Given the description of an element on the screen output the (x, y) to click on. 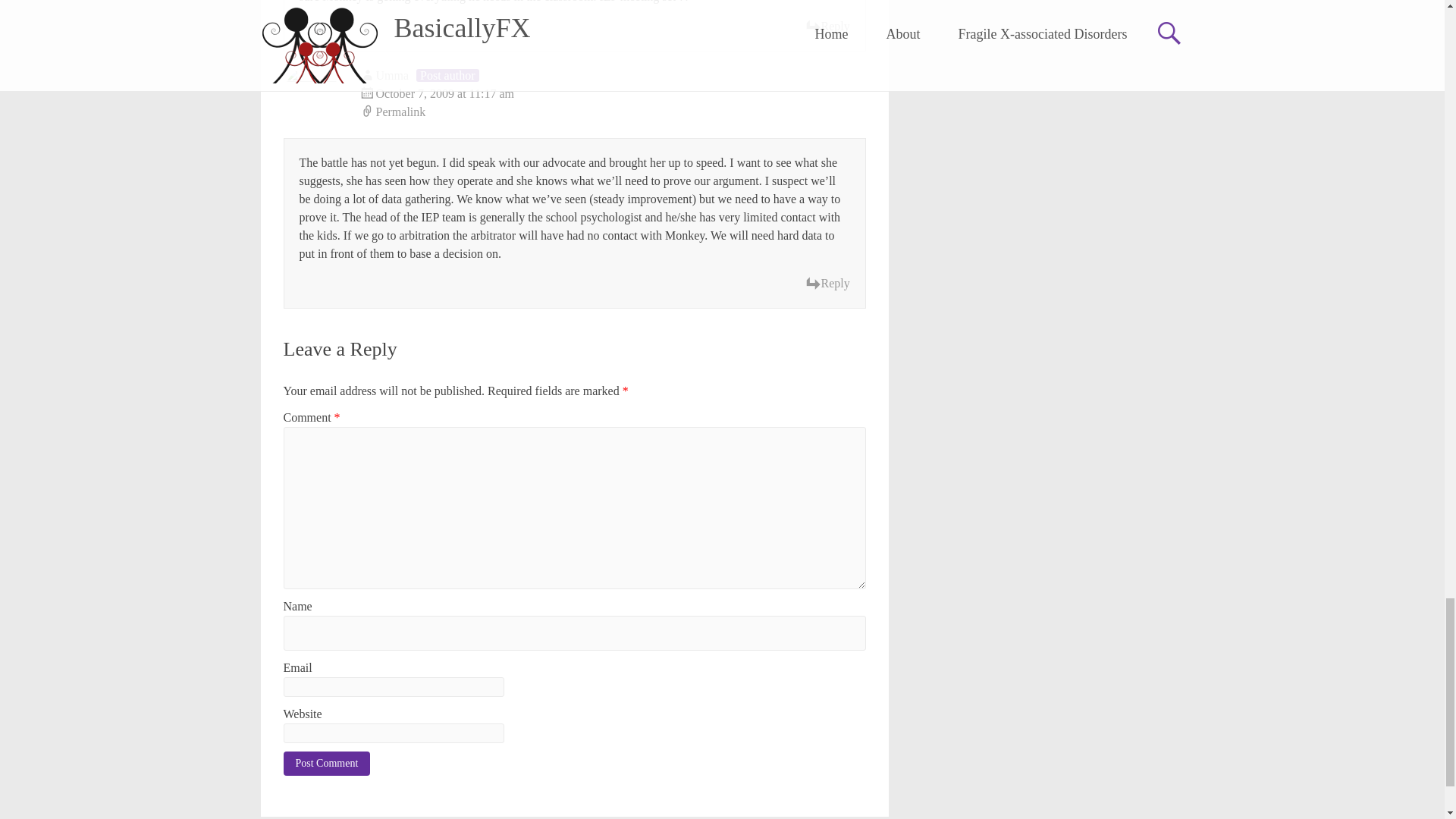
Reply (827, 26)
Post Comment (327, 763)
Post Comment (327, 763)
Reply (827, 283)
Permalink (612, 112)
